Given the description of an element on the screen output the (x, y) to click on. 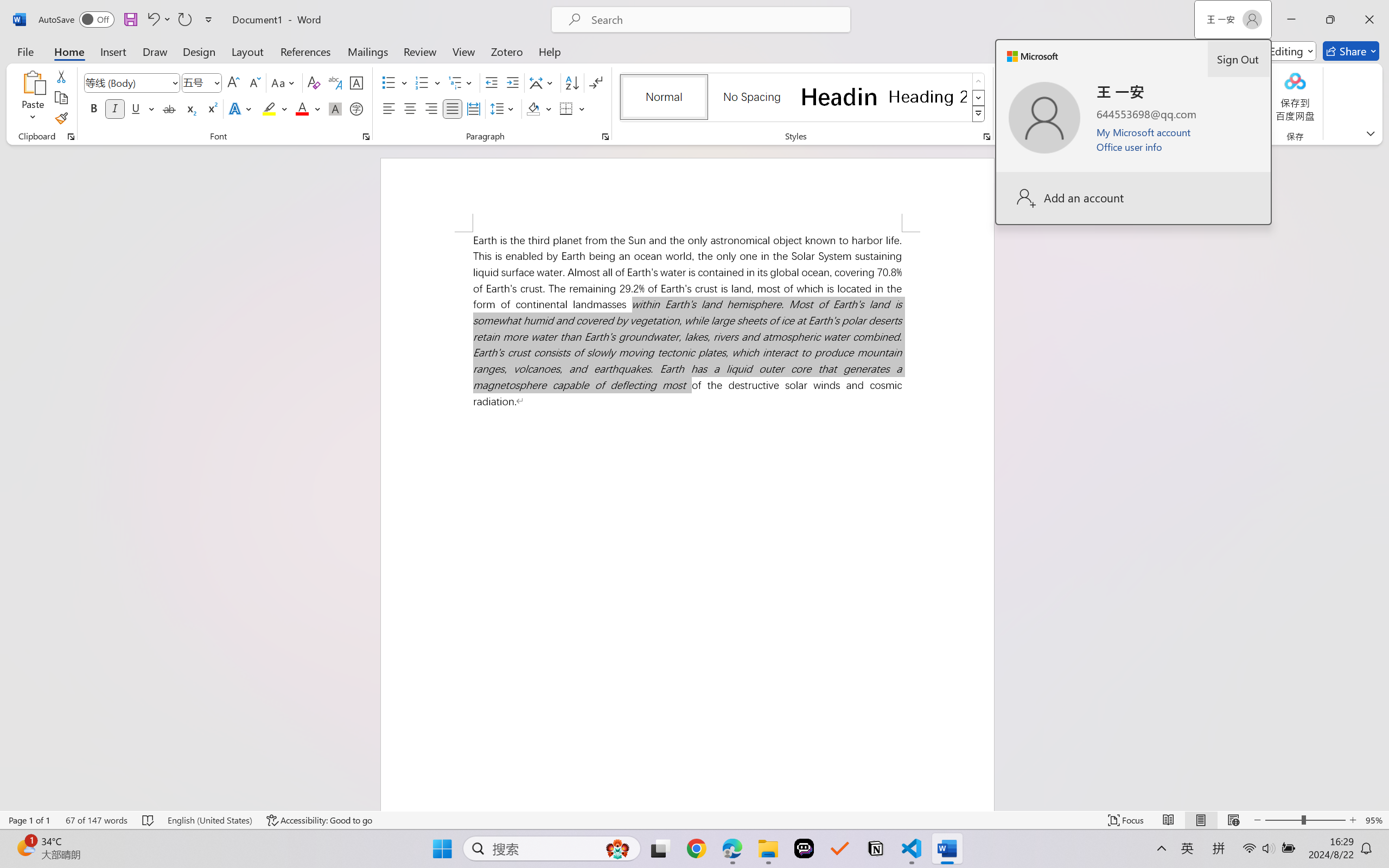
AutomationID: QuickStylesGallery (802, 97)
Zoom 95% (1374, 819)
Increase Indent (512, 82)
Asian Layout (542, 82)
Align Right (431, 108)
Superscript (210, 108)
